Given the description of an element on the screen output the (x, y) to click on. 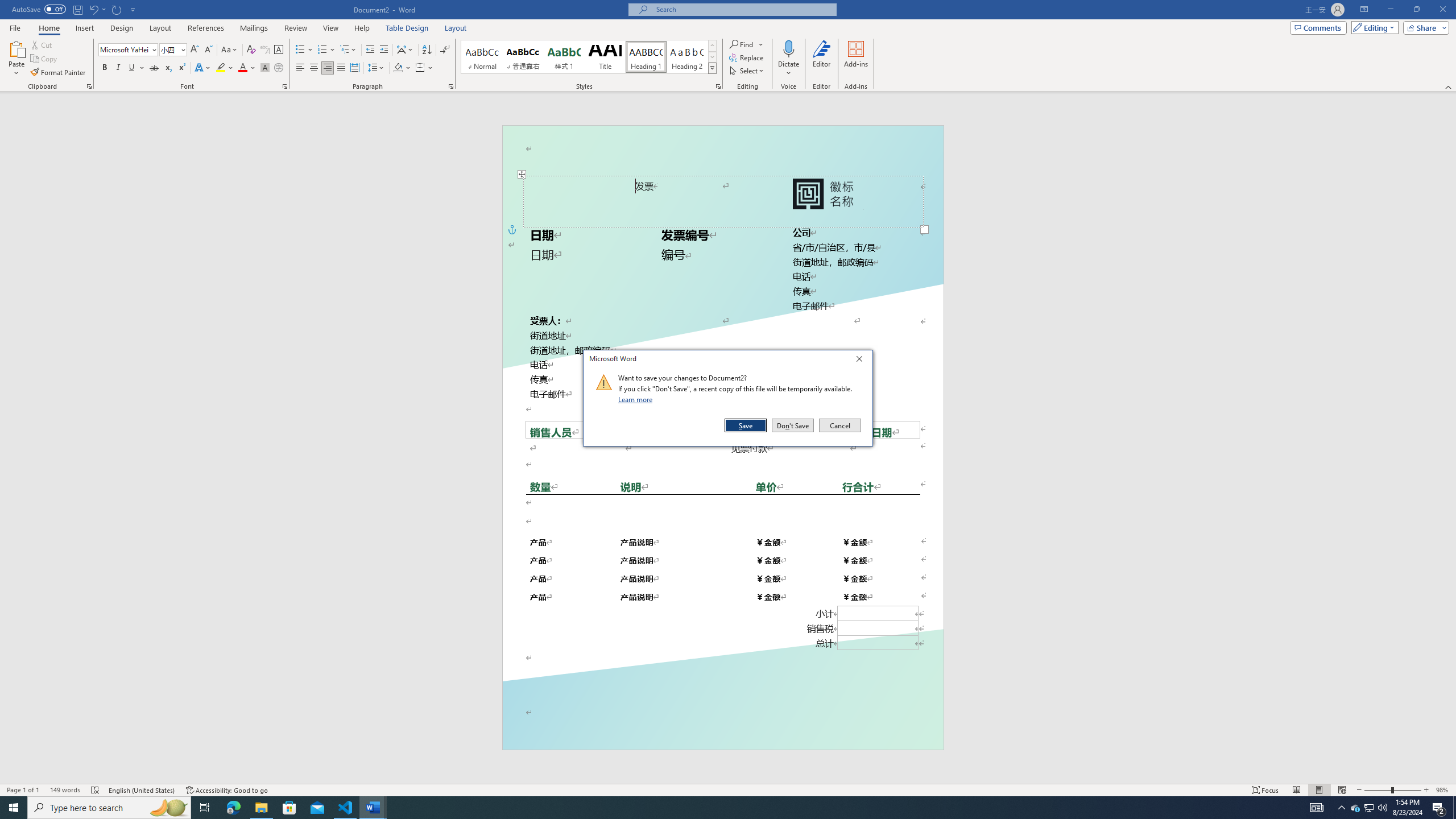
Font Color RGB(255, 0, 0) (241, 67)
